Given the description of an element on the screen output the (x, y) to click on. 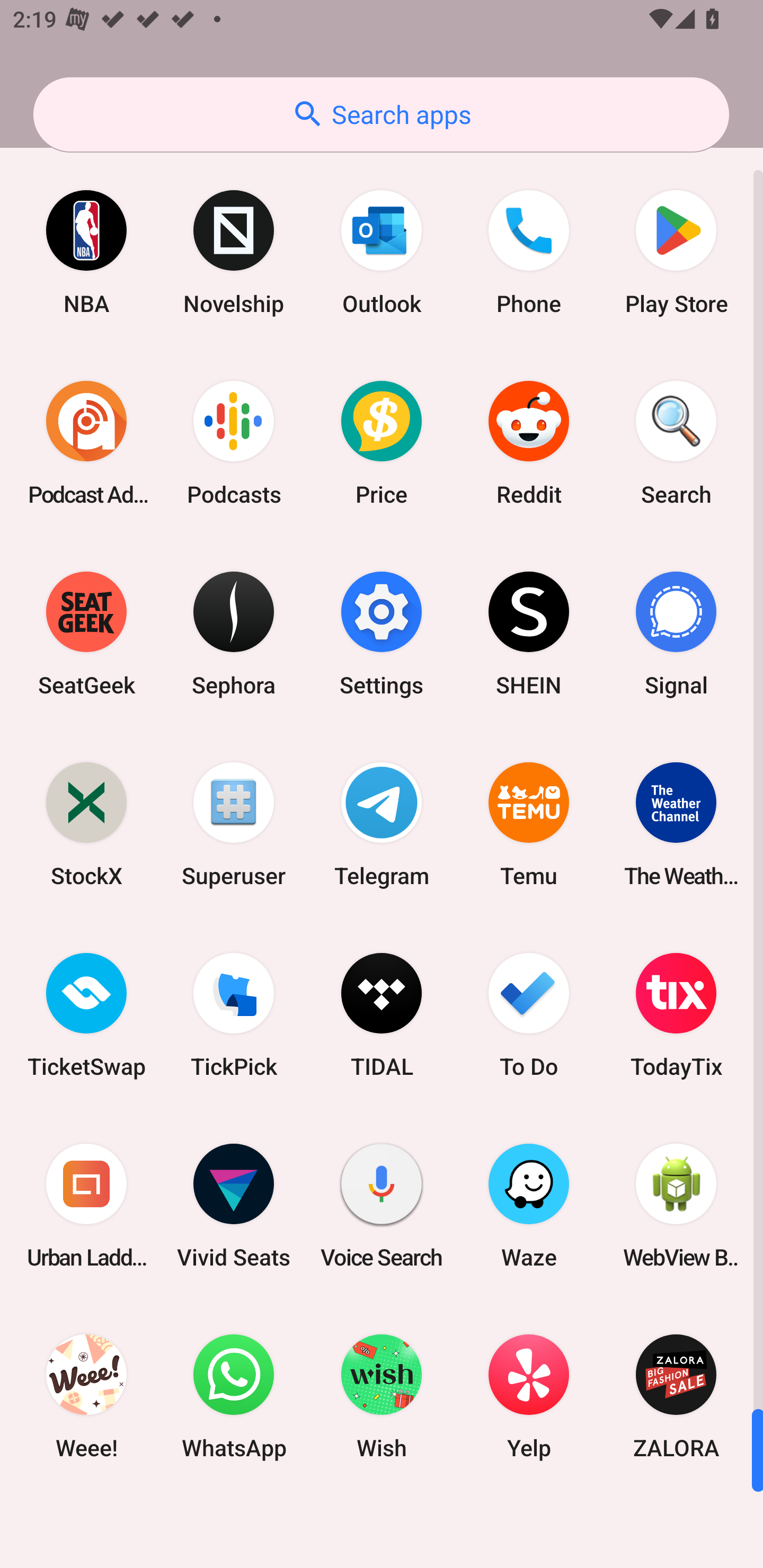
Signal (676, 633)
